Given the description of an element on the screen output the (x, y) to click on. 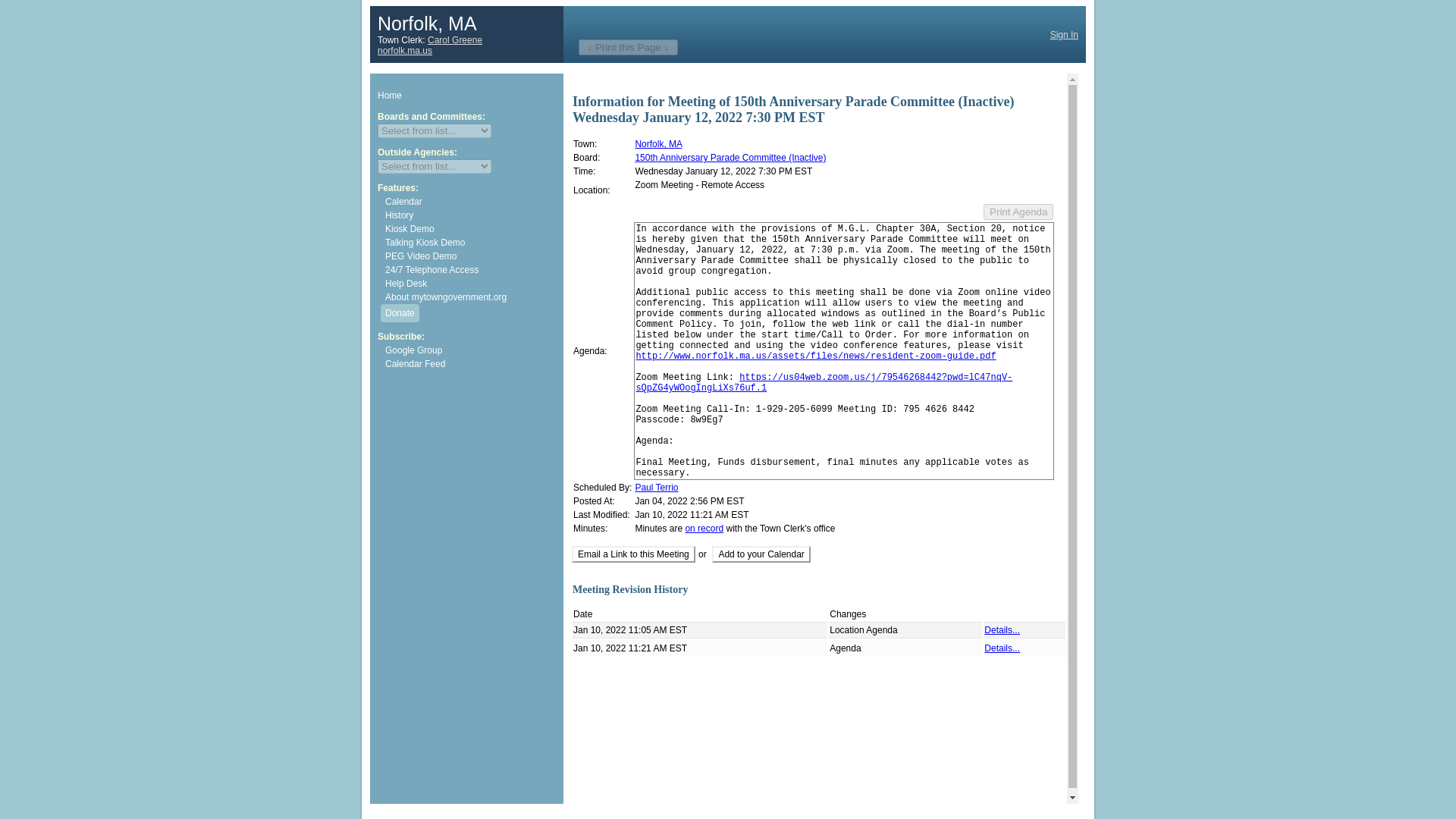
Carol Greene (454, 40)
Google Group (470, 350)
Best viewed at 800x600 in Google Chrome (470, 255)
Home (466, 95)
Help Desk (470, 283)
Sign In (1063, 33)
PEG Video Demo (470, 255)
Best viewed at 1024x768 in Google Chrome (470, 228)
Donate (399, 312)
History (470, 214)
Best viewed at 1024x768 in Google Chrome (470, 242)
About mytowngovernment.org (470, 296)
Calendar Feed (470, 364)
Kiosk Demo (470, 228)
Talking Kiosk Demo (470, 242)
